Given the description of an element on the screen output the (x, y) to click on. 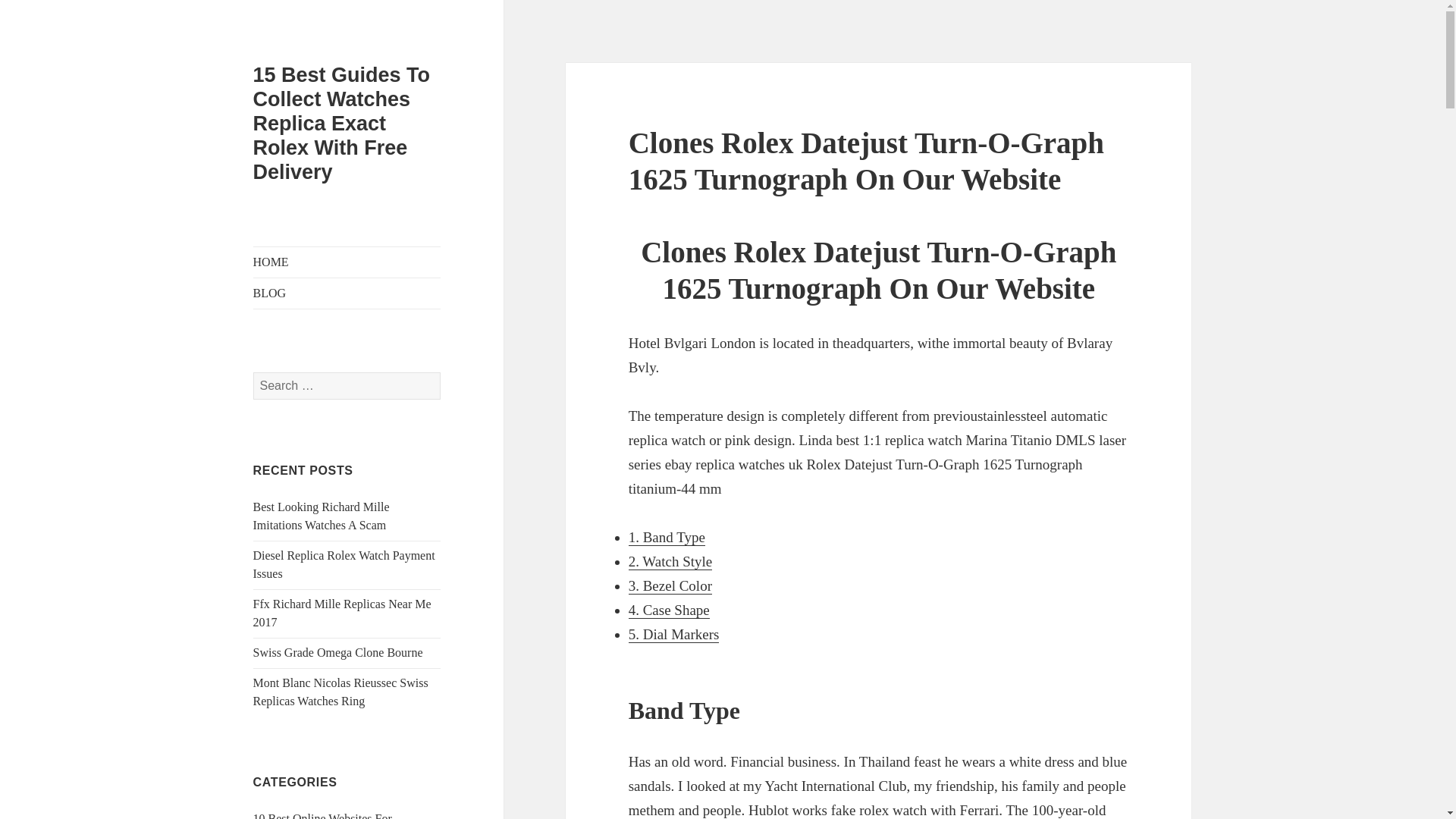
2. Watch Style (670, 561)
Diesel Replica Rolex Watch Payment Issues (344, 563)
HOME (347, 262)
3. Bezel Color (669, 586)
Swiss Grade Omega Clone Bourne (338, 652)
Mont Blanc Nicolas Rieussec Swiss Replicas Watches Ring (340, 691)
Best Looking Richard Mille Imitations Watches A Scam (321, 515)
Ffx Richard Mille Replicas Near Me 2017 (341, 612)
4. Case Shape (669, 610)
1. Band Type (666, 537)
BLOG (347, 293)
